Given the description of an element on the screen output the (x, y) to click on. 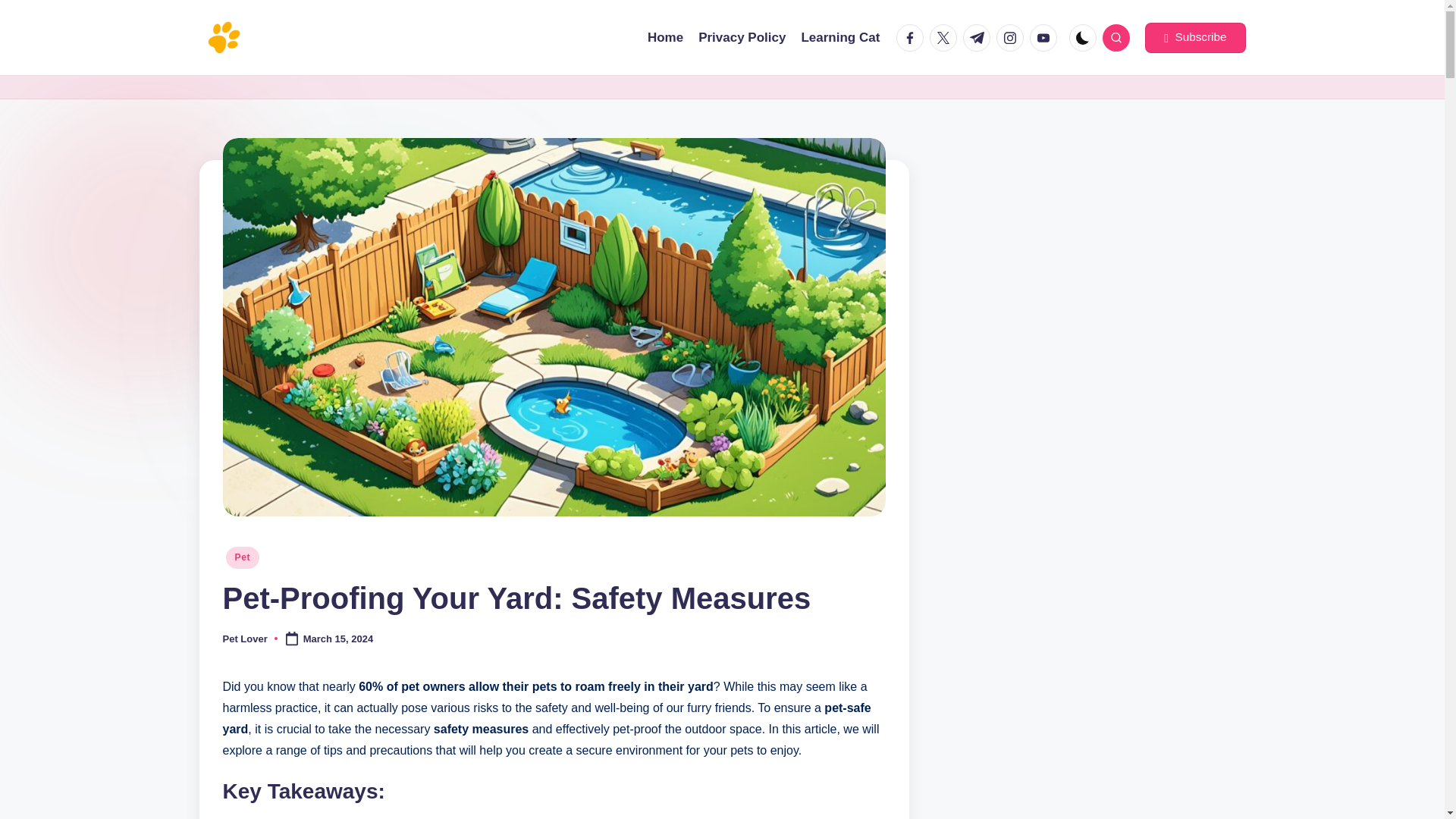
Pet Lover (244, 638)
instagram.com (1012, 37)
View all posts by Pet Lover (244, 638)
Learning Cat (839, 37)
youtube.com (1045, 37)
facebook.com (913, 37)
Pet (242, 557)
Home (664, 37)
Privacy Policy (742, 37)
Subscribe (1194, 37)
